Given the description of an element on the screen output the (x, y) to click on. 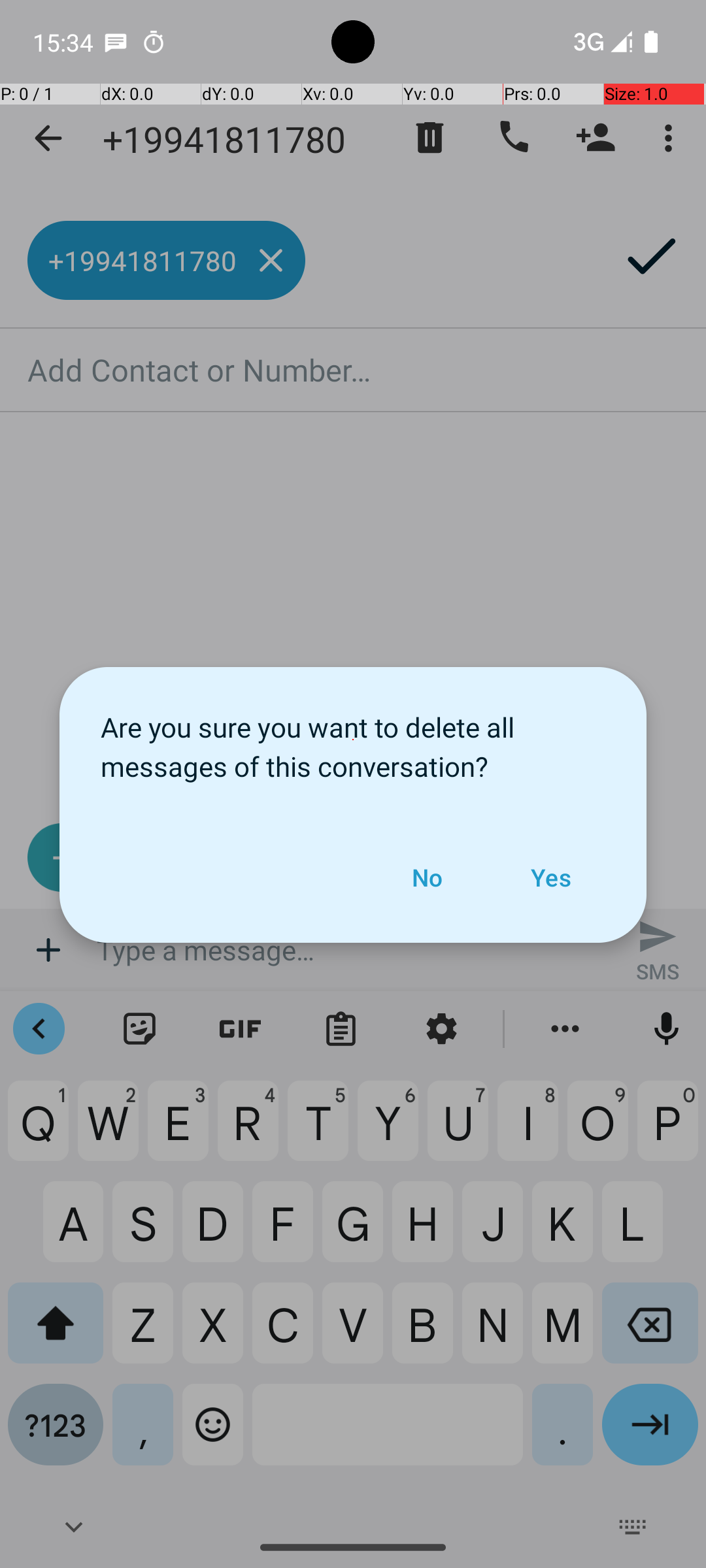
Are you sure you want to delete all messages of this conversation? Element type: android.widget.TextView (352, 739)
